Given the description of an element on the screen output the (x, y) to click on. 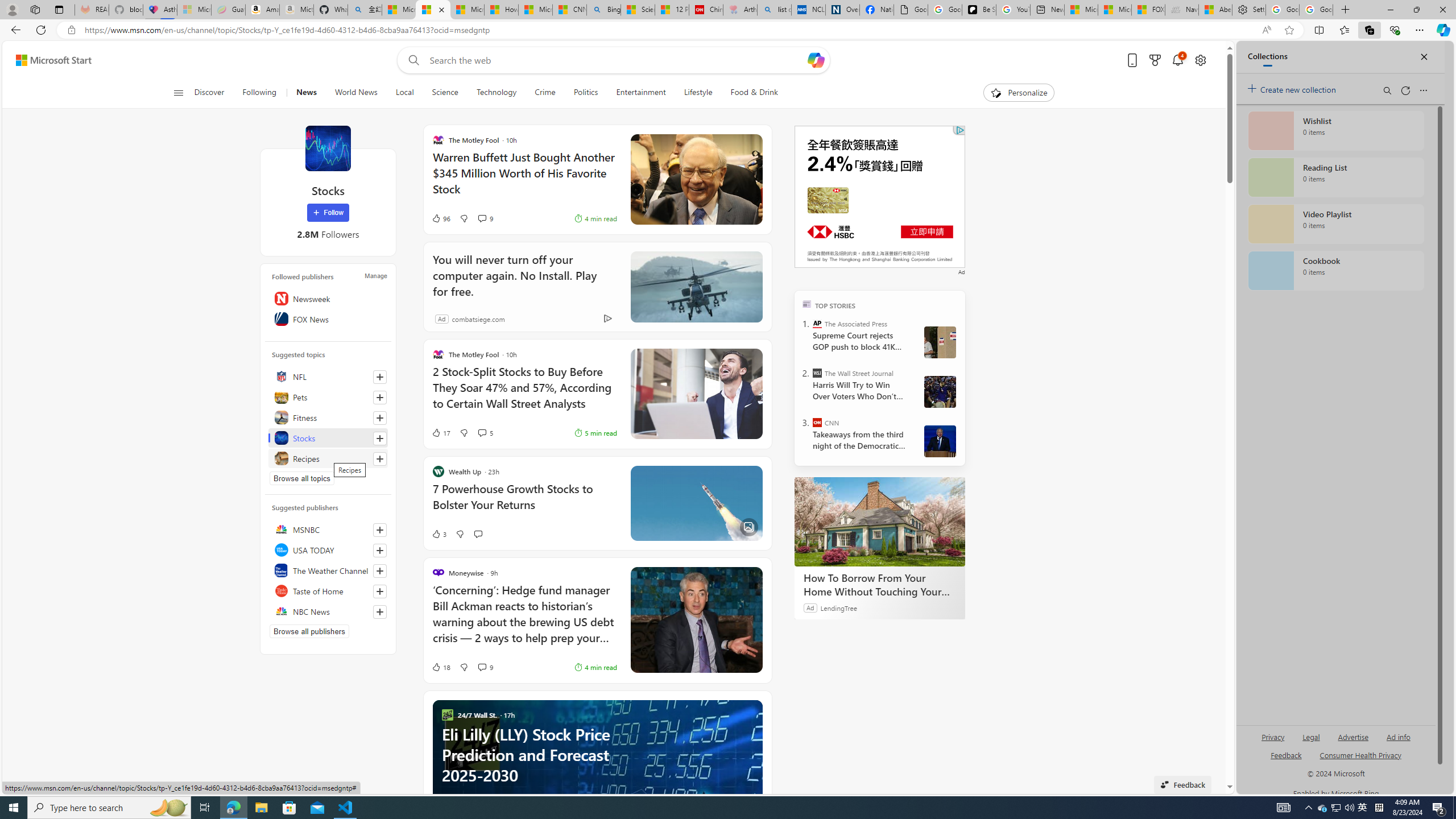
LendingTree (838, 607)
3 Like (438, 533)
Follow this source (379, 611)
Follow this source (379, 612)
CNN (816, 422)
Follow (328, 212)
How I Got Rid of Microsoft Edge's Unnecessary Features (500, 9)
